Given the description of an element on the screen output the (x, y) to click on. 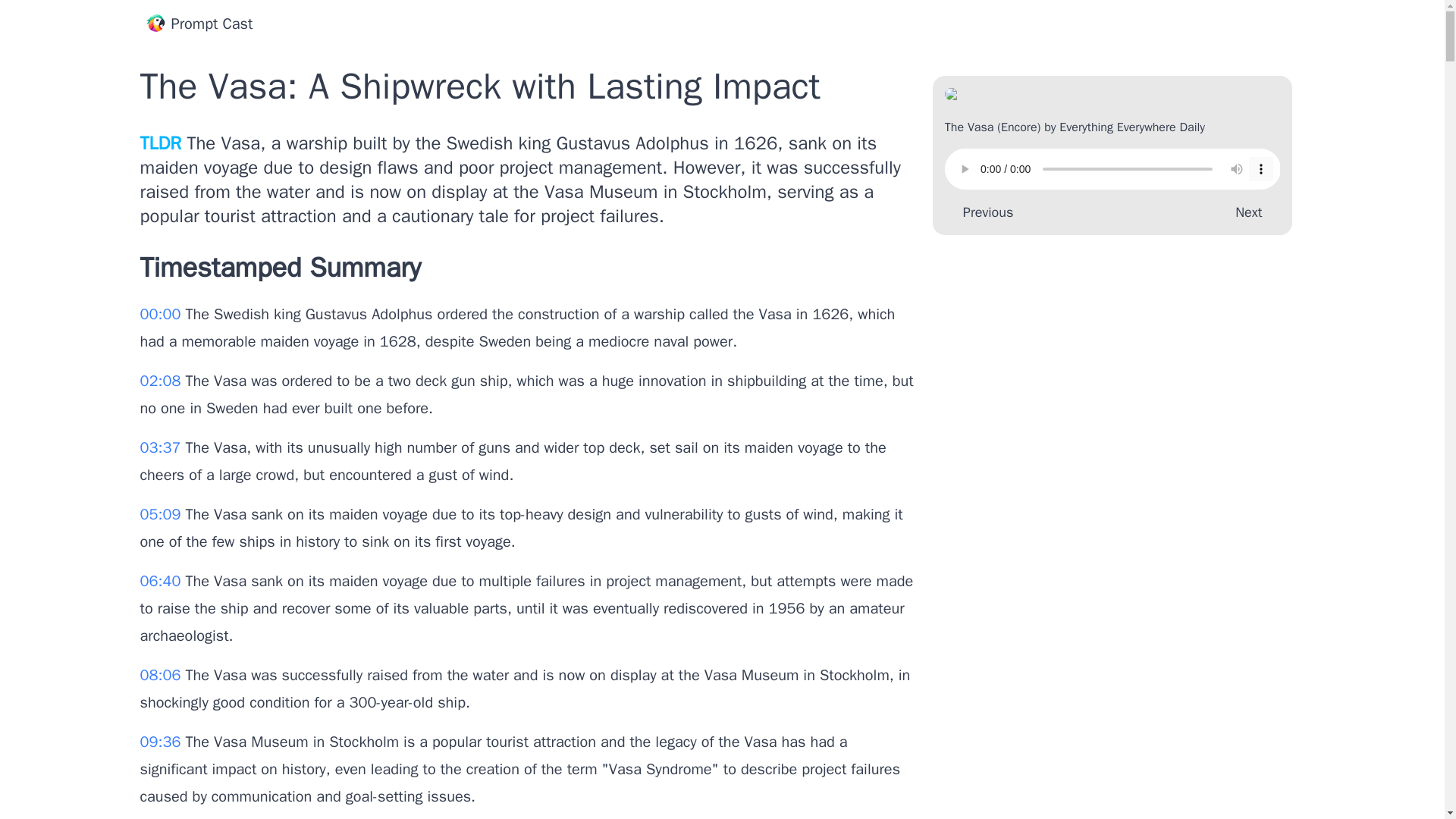
Everything Everywhere Daily (1132, 127)
Prompt Cast (198, 24)
Next (1251, 211)
03:37 (161, 447)
08:06 (161, 674)
06:40 (161, 580)
05:09 (161, 514)
00:00 (161, 313)
02:08 (161, 380)
09:36 (161, 741)
